Given the description of an element on the screen output the (x, y) to click on. 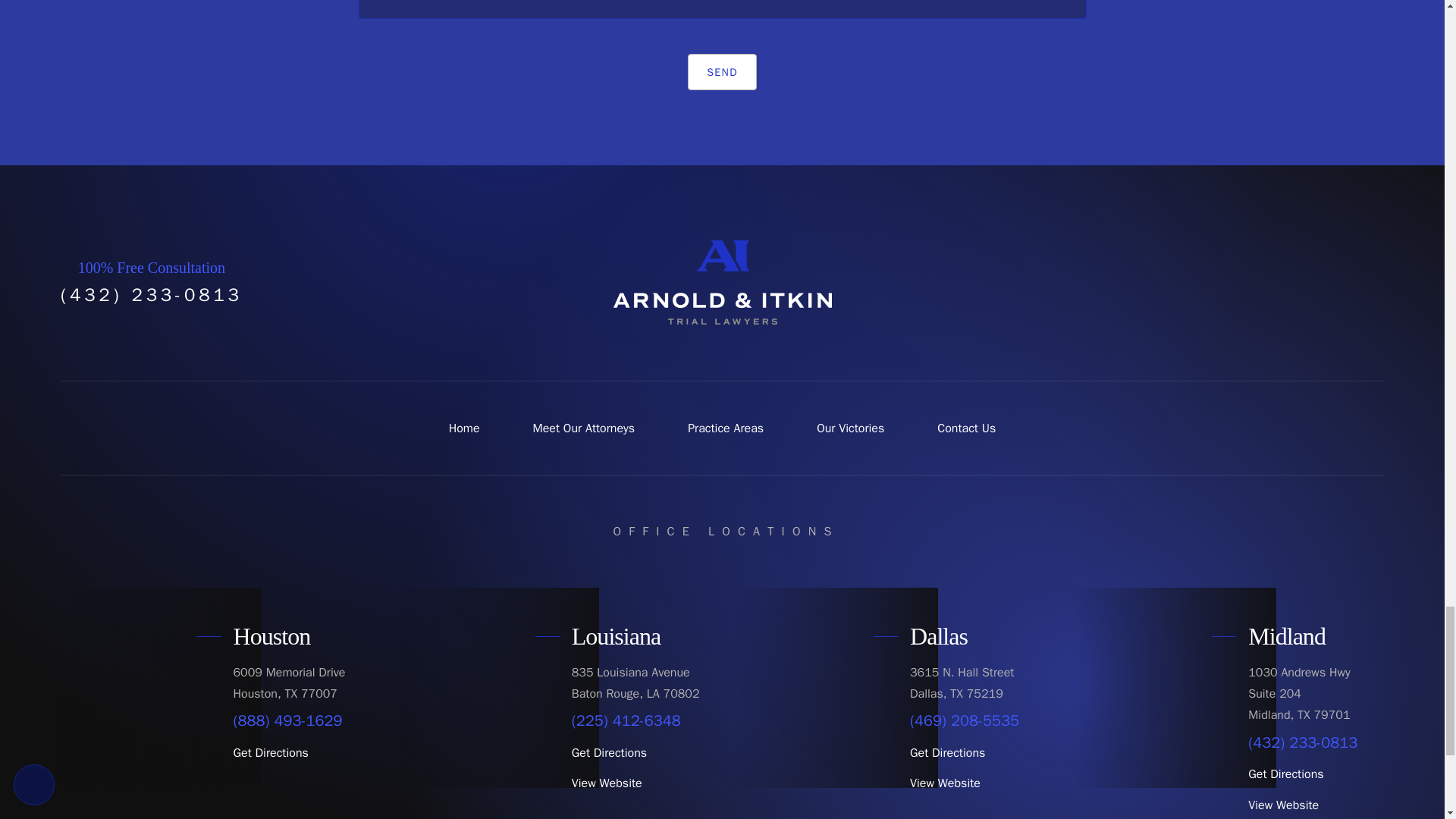
Twitter (1261, 282)
YouTube (1296, 282)
Facebook (1227, 282)
Instagram (1331, 282)
LinkedIn (1366, 282)
